Given the description of an element on the screen output the (x, y) to click on. 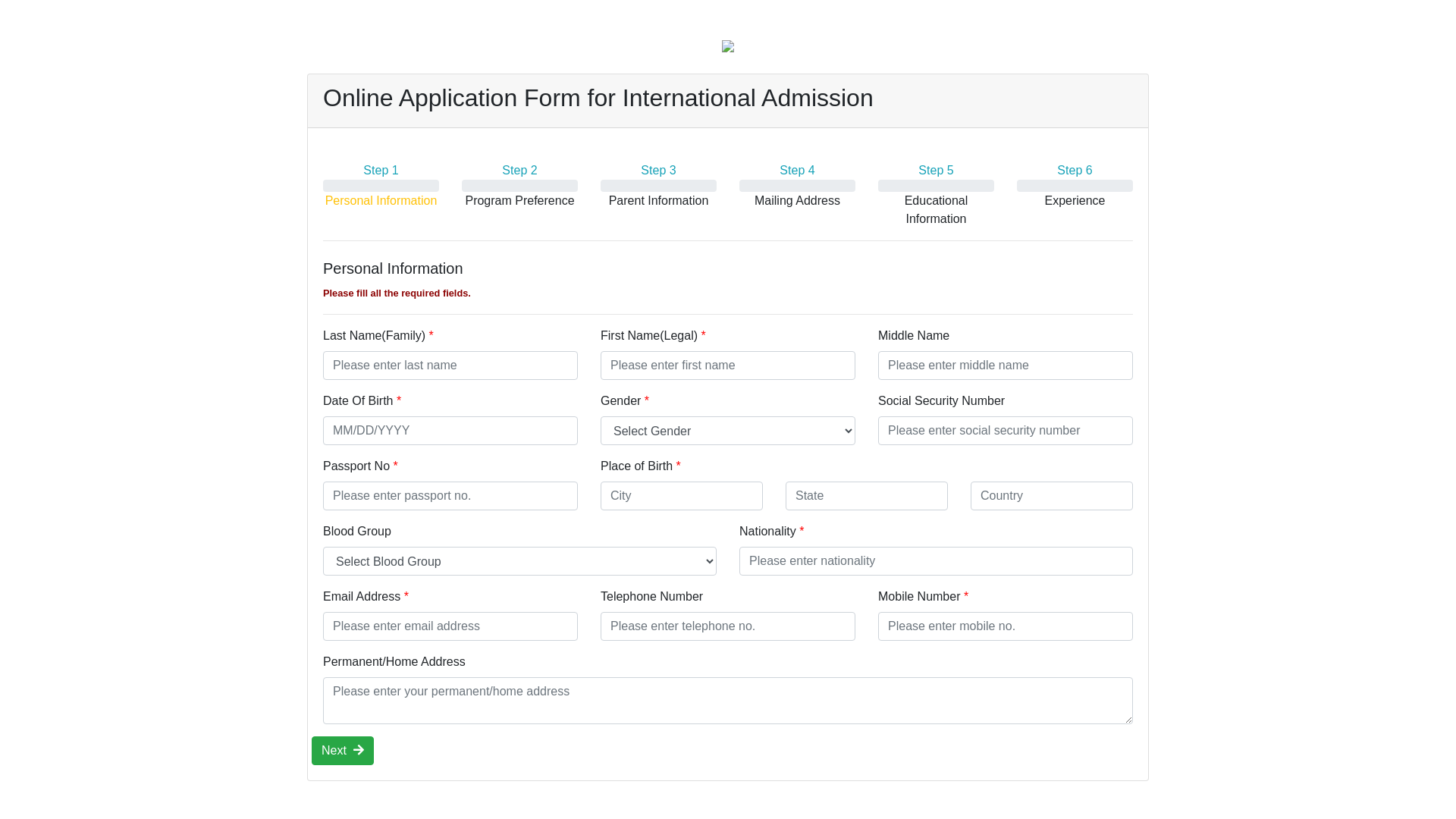
Next   Element type: text (342, 750)
